Given the description of an element on the screen output the (x, y) to click on. 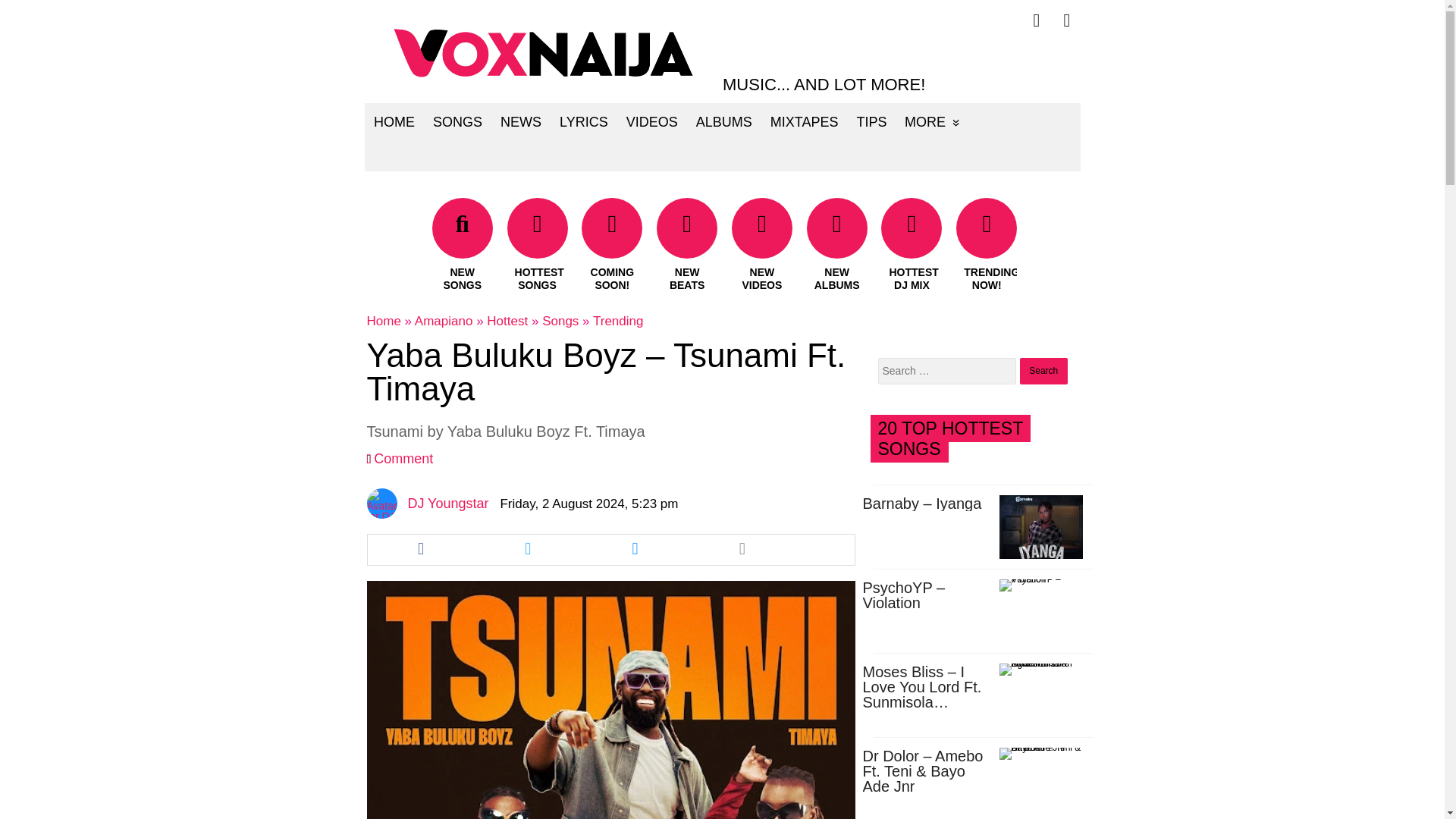
TIPS (871, 121)
Home (383, 320)
Follow Voxlyrics.com on Twitter (1067, 20)
VIDEOS (650, 121)
Songs (559, 320)
ALBUMS (722, 121)
Gravatar for DJ Youngstar (381, 503)
SONGS (456, 121)
Comment (403, 458)
NEWS (521, 121)
Search (1043, 370)
LYRICS (583, 121)
Posts by DJ Youngstar (447, 503)
Follow Voxlyrics.com on Facebook (1036, 20)
Trending (617, 320)
